Given the description of an element on the screen output the (x, y) to click on. 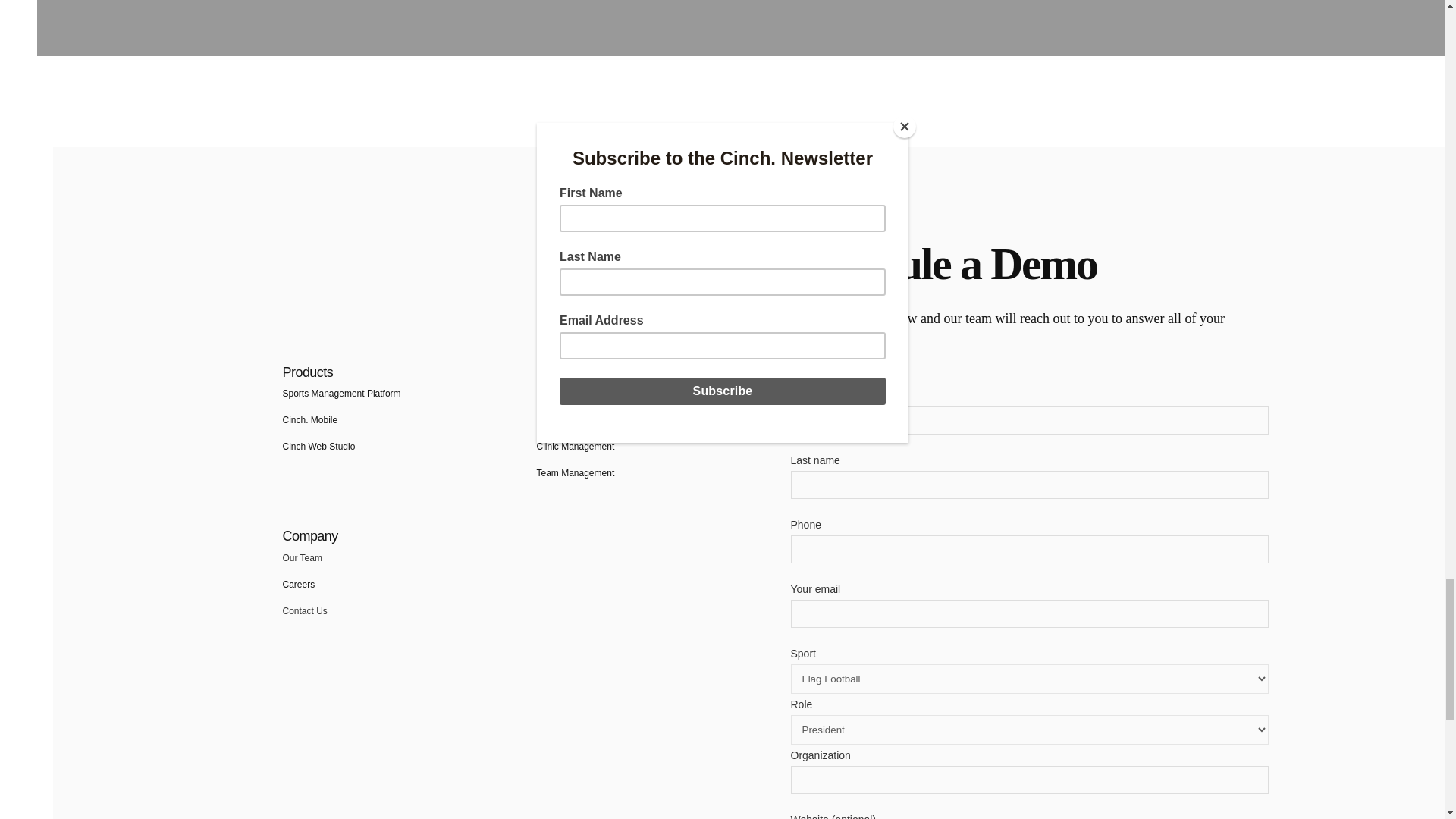
Sports Management Platform (341, 393)
Sports Management Platform (309, 419)
